Given the description of an element on the screen output the (x, y) to click on. 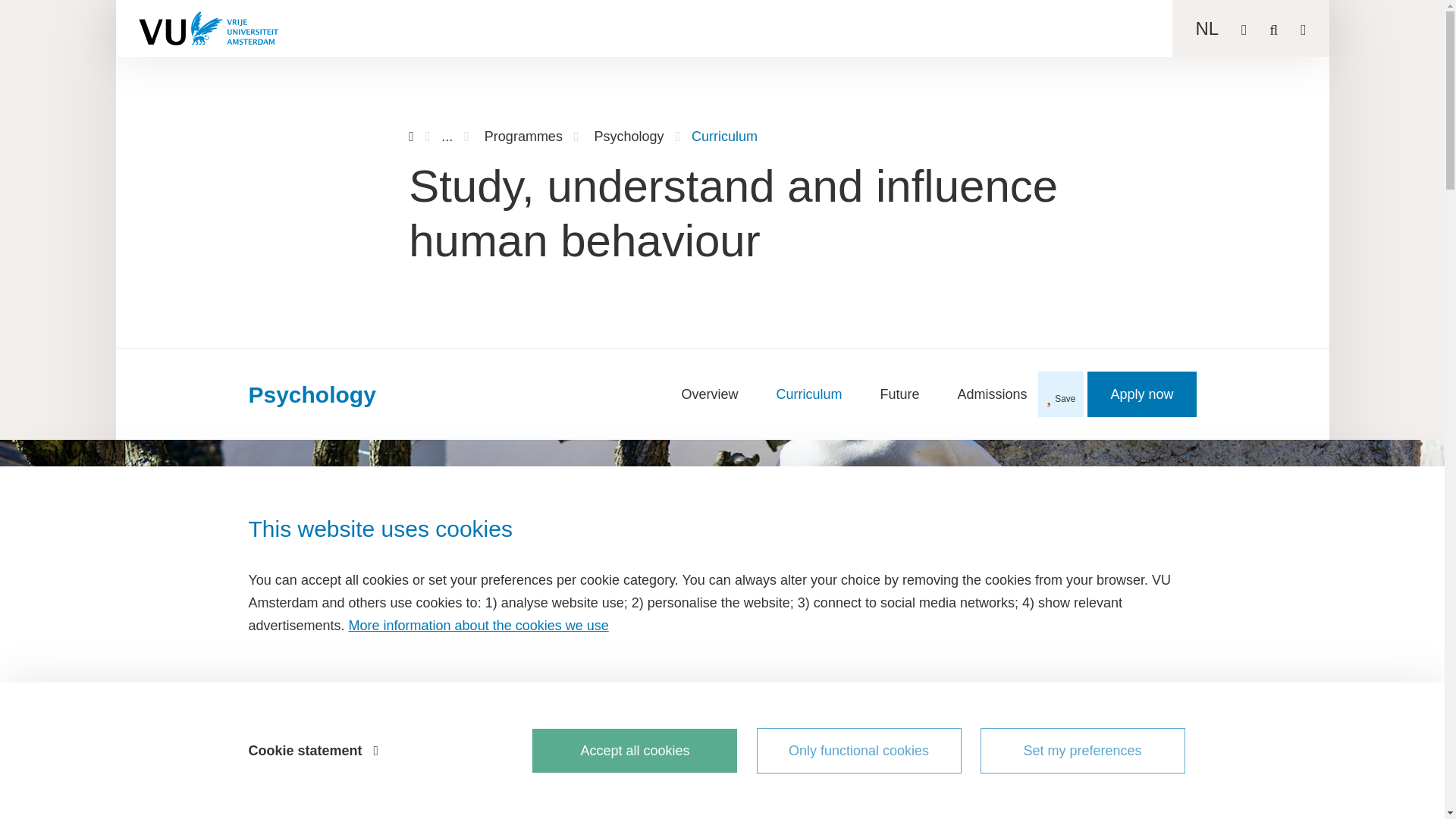
Future (898, 394)
Accept all cookies (634, 750)
Save (1060, 394)
Apply now (1141, 393)
Programmes (523, 136)
Overview (709, 394)
Only functional cookies (858, 750)
Psychology (628, 136)
Cookie statement (312, 750)
